Given the description of an element on the screen output the (x, y) to click on. 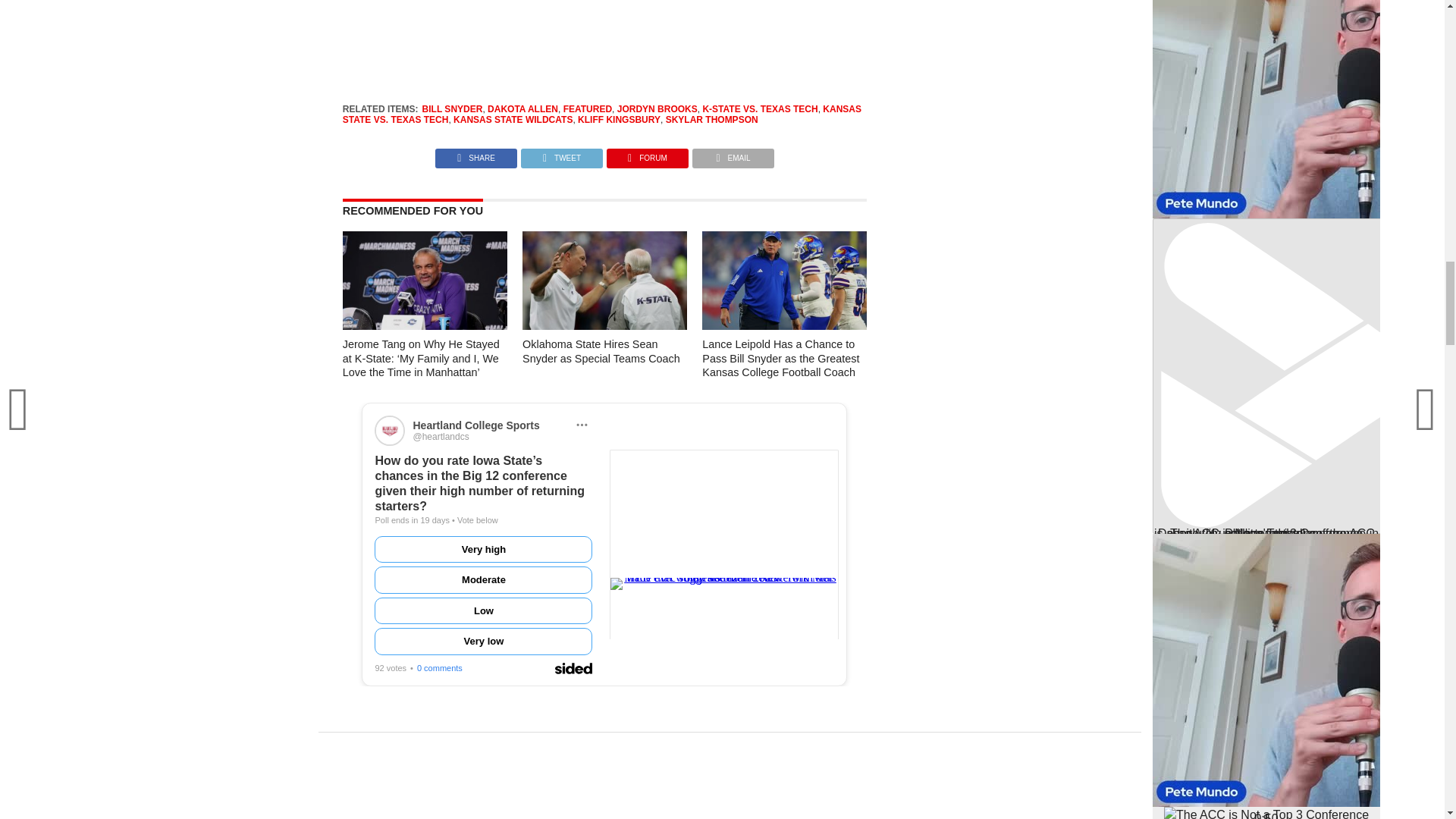
Share on Facebook (475, 154)
Tweet This Post (560, 154)
